Given the description of an element on the screen output the (x, y) to click on. 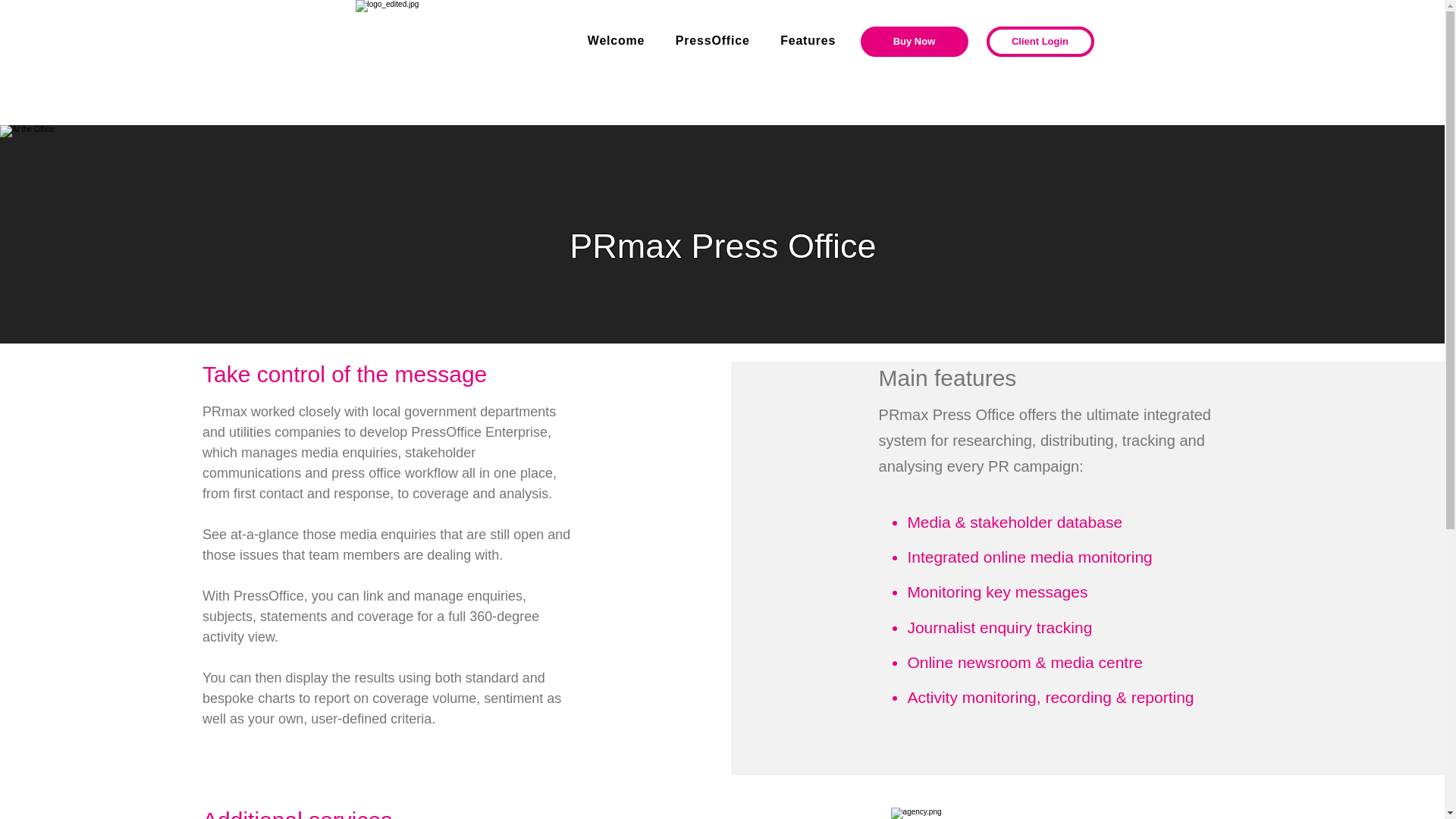
Features (808, 40)
Buy Now (914, 41)
Welcome (615, 40)
Client Login (1039, 41)
PressOffice (712, 40)
